Given the description of an element on the screen output the (x, y) to click on. 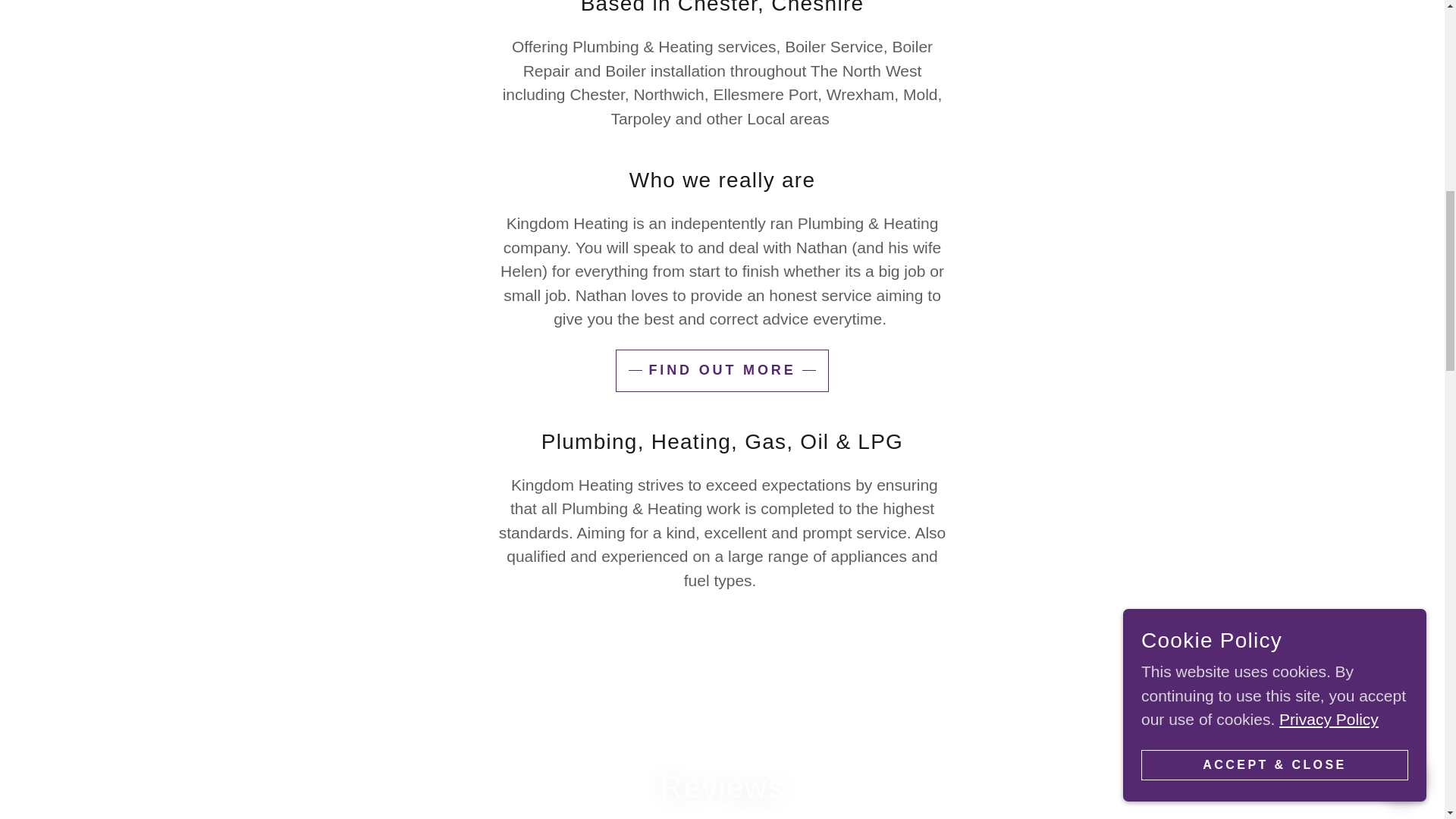
FIND OUT MORE (721, 370)
